Given the description of an element on the screen output the (x, y) to click on. 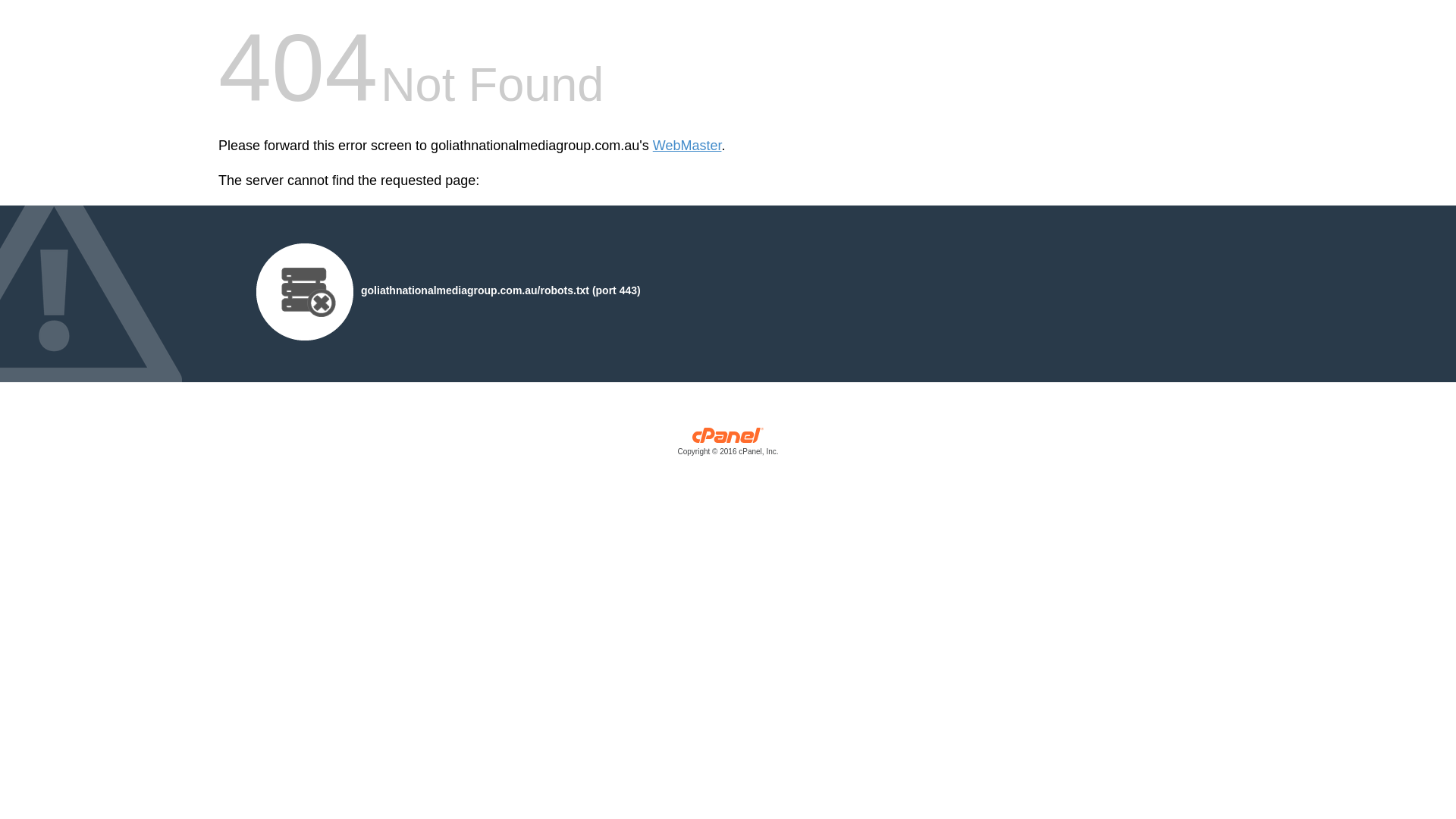
WebMaster Element type: text (686, 145)
